Given the description of an element on the screen output the (x, y) to click on. 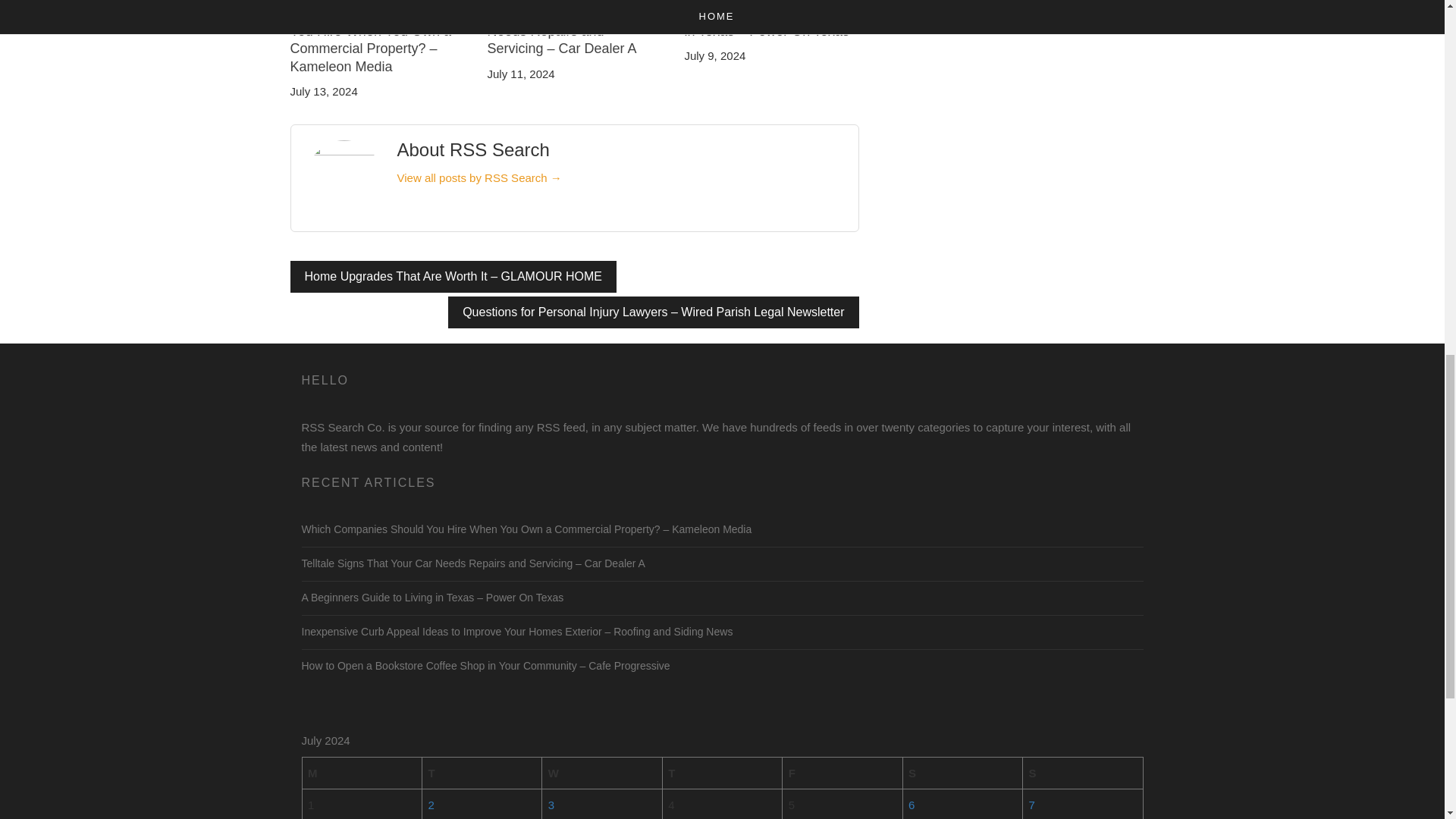
7 (1032, 804)
Monday (361, 773)
3 (551, 804)
Wednesday (601, 773)
6 (911, 804)
Saturday (962, 773)
Tuesday (481, 773)
Friday (842, 773)
Thursday (721, 773)
2 (430, 804)
